Given the description of an element on the screen output the (x, y) to click on. 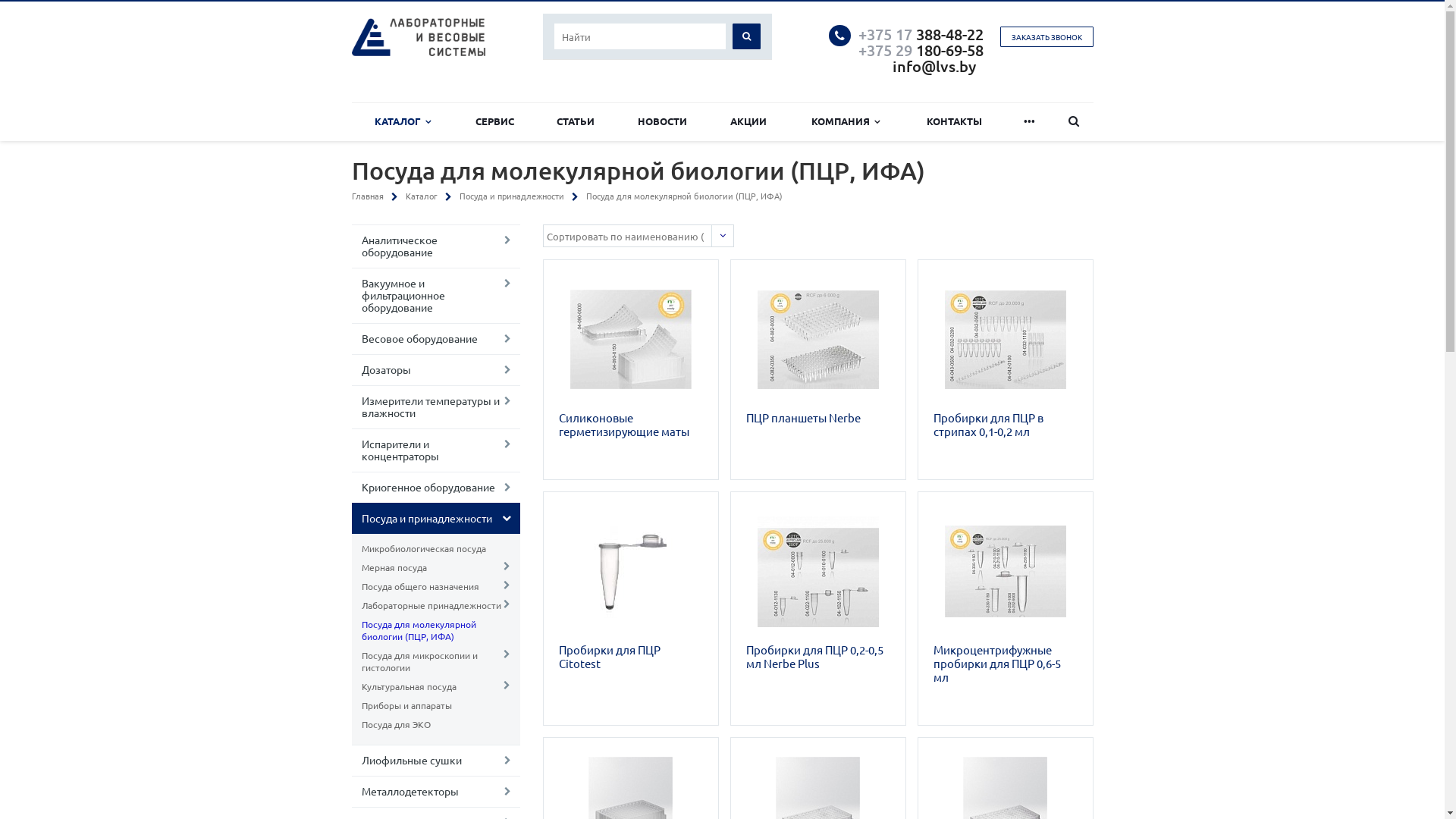
info@lvs.by Element type: text (933, 65)
+375 29 180-69-58  Element type: text (922, 49)
... Element type: text (1029, 121)
+375 17 388-48-22 Element type: text (920, 33)
